Given the description of an element on the screen output the (x, y) to click on. 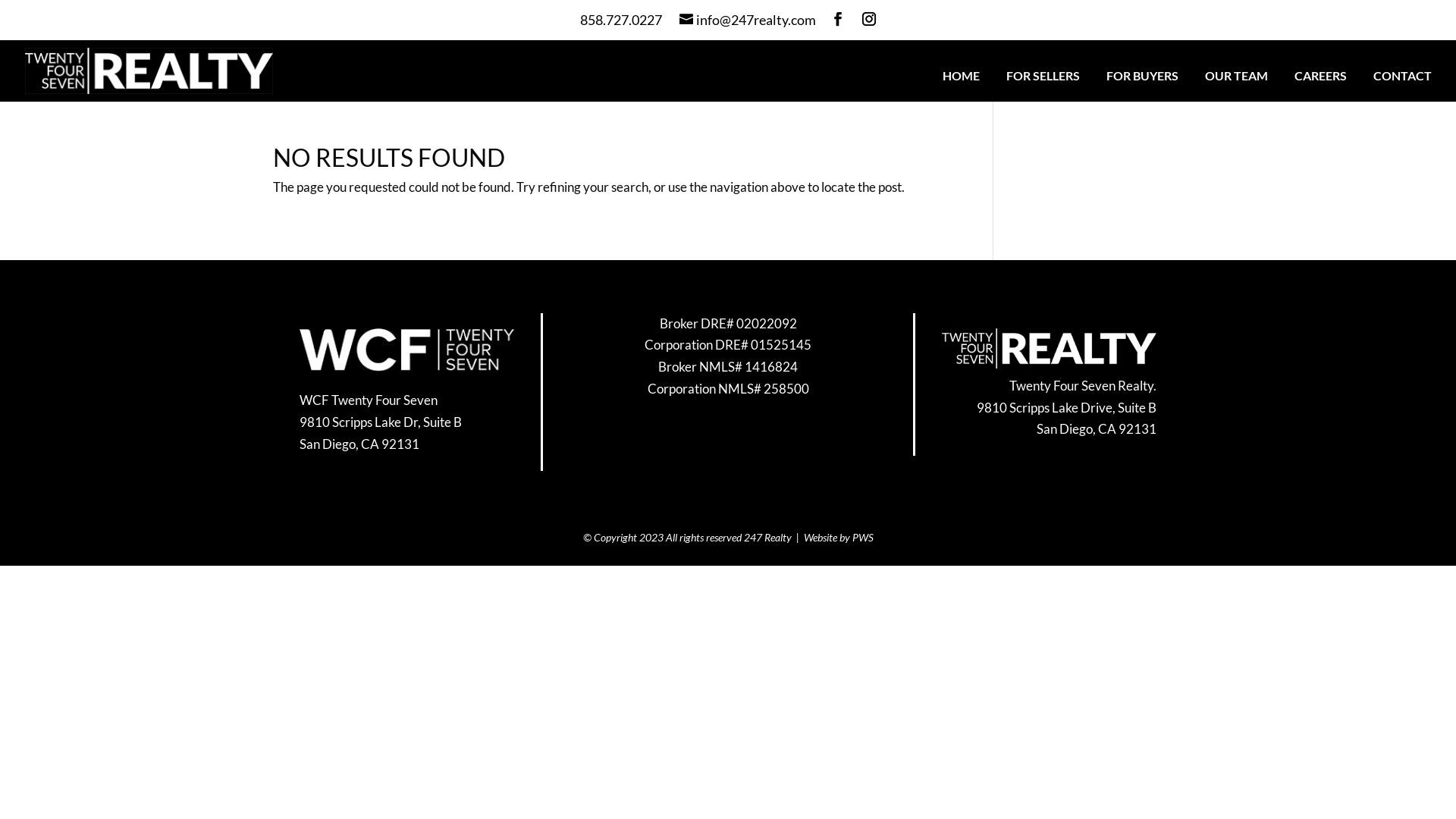
HOME Element type: text (960, 82)
info@247realty.com Element type: text (747, 19)
Website by PWS Element type: text (838, 536)
FOR BUYERS Element type: text (1142, 82)
CONTACT Element type: text (1402, 82)
CAREERS Element type: text (1320, 82)
OUR TEAM Element type: text (1235, 82)
858.727.0227 Element type: text (620, 19)
FOR SELLERS Element type: text (1042, 82)
